Given the description of an element on the screen output the (x, y) to click on. 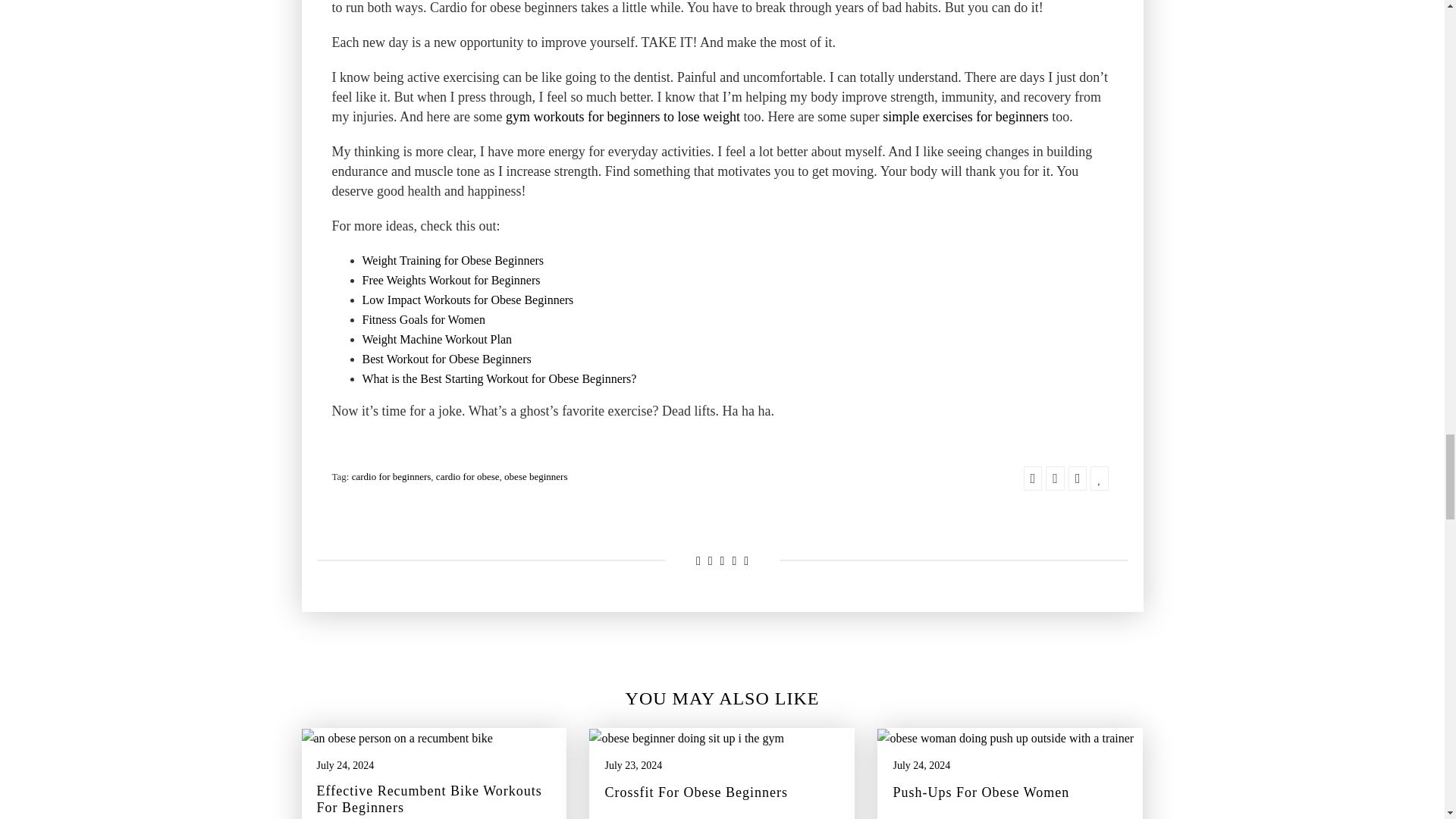
Best Workout for Obese Beginners (446, 359)
Low Impact Workouts for Obese Beginners (467, 300)
cardio for obese (467, 476)
Fitness Goals for Women (423, 320)
What is the Best Starting Workout for Obese Beginners? (499, 379)
Weight Training for Obese Beginners (453, 260)
obese beginners (535, 476)
cardio for beginners (391, 476)
simple exercises for beginners (965, 116)
Free Weights Workout for Beginners (451, 280)
